Given the description of an element on the screen output the (x, y) to click on. 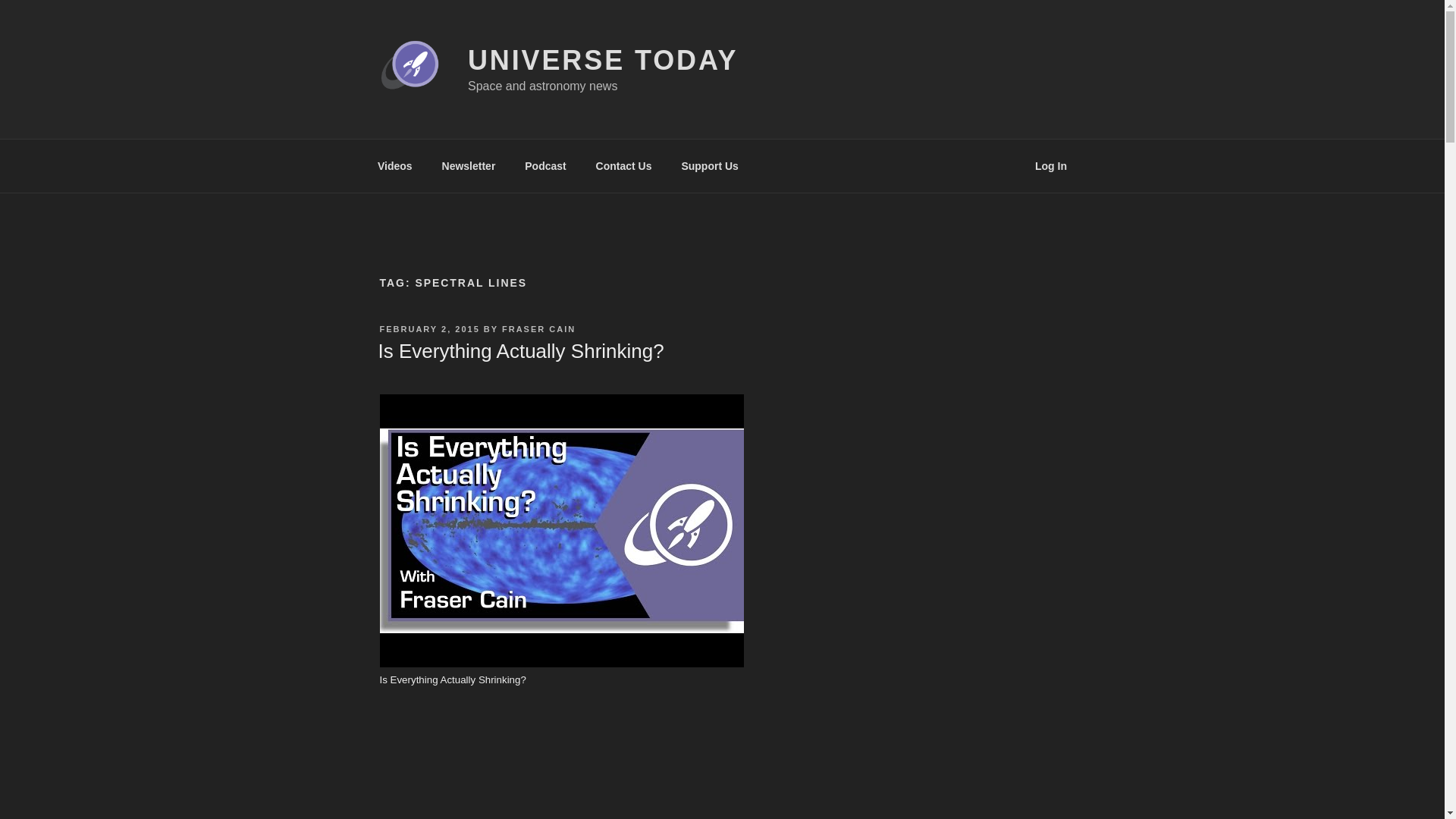
FRASER CAIN (538, 328)
FEBRUARY 2, 2015 (428, 328)
UNIVERSE TODAY (602, 60)
Videos (394, 165)
Support Us (709, 165)
Is Everything Actually Shrinking? (520, 350)
Log In (1051, 165)
Contact Us (623, 165)
Newsletter (468, 165)
Podcast (545, 165)
